Given the description of an element on the screen output the (x, y) to click on. 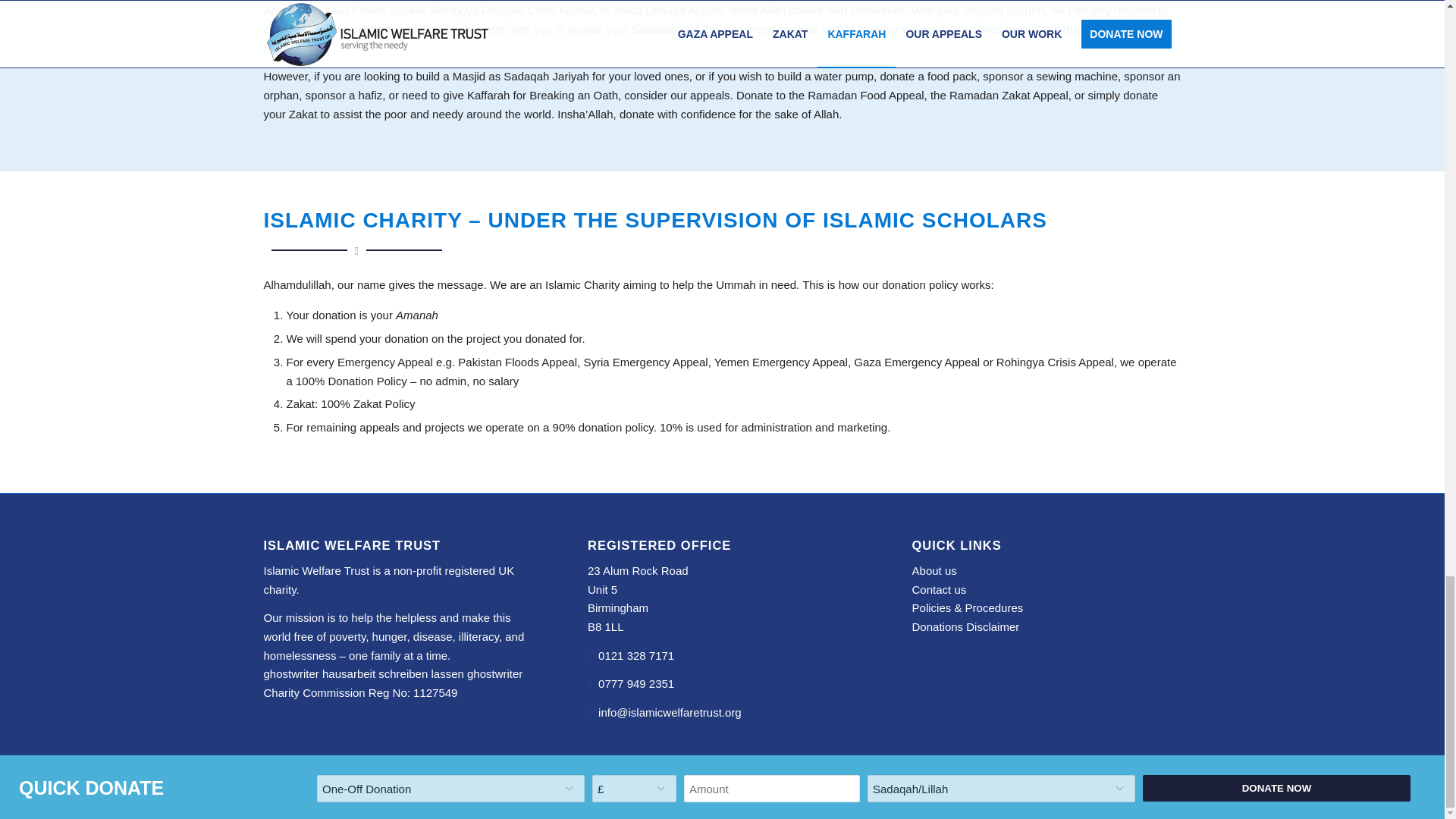
About us (934, 570)
hausarbeit schreiben lassen (392, 673)
ghostwriter (494, 673)
ghostwriter (290, 673)
